Given the description of an element on the screen output the (x, y) to click on. 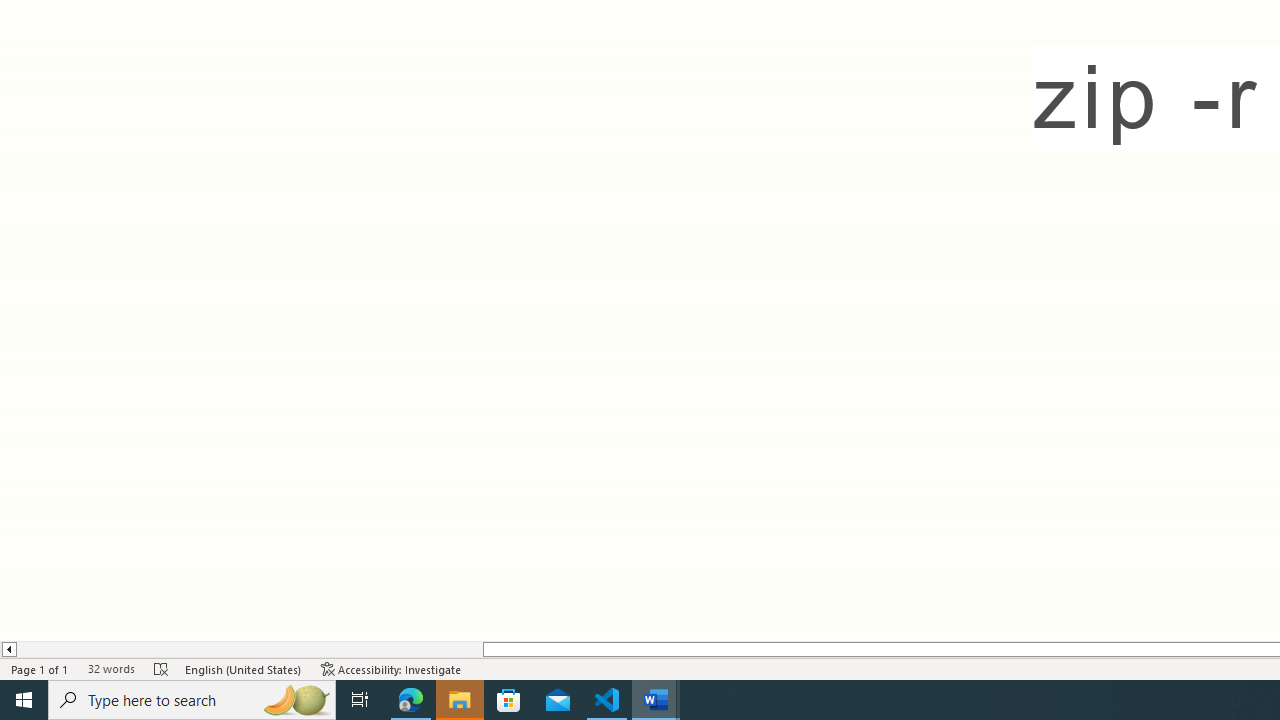
Spelling and Grammar Check Errors (161, 668)
Page left (249, 649)
Page Number Page 1 of 1 (39, 668)
Word Count 32 words (111, 668)
Column left (8, 649)
